Given the description of an element on the screen output the (x, y) to click on. 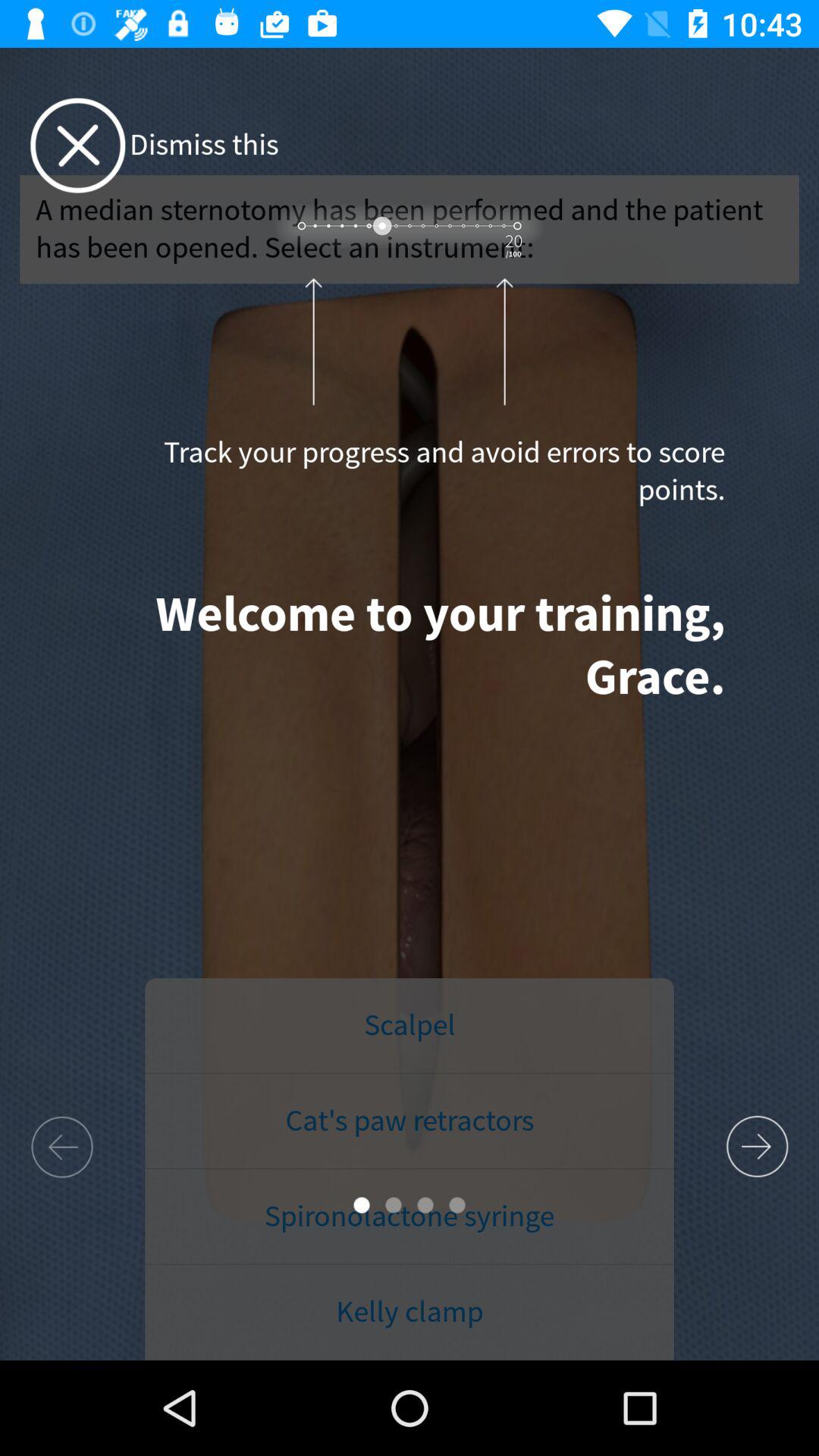
click the icon above spironolactone syringe (409, 1121)
